Given the description of an element on the screen output the (x, y) to click on. 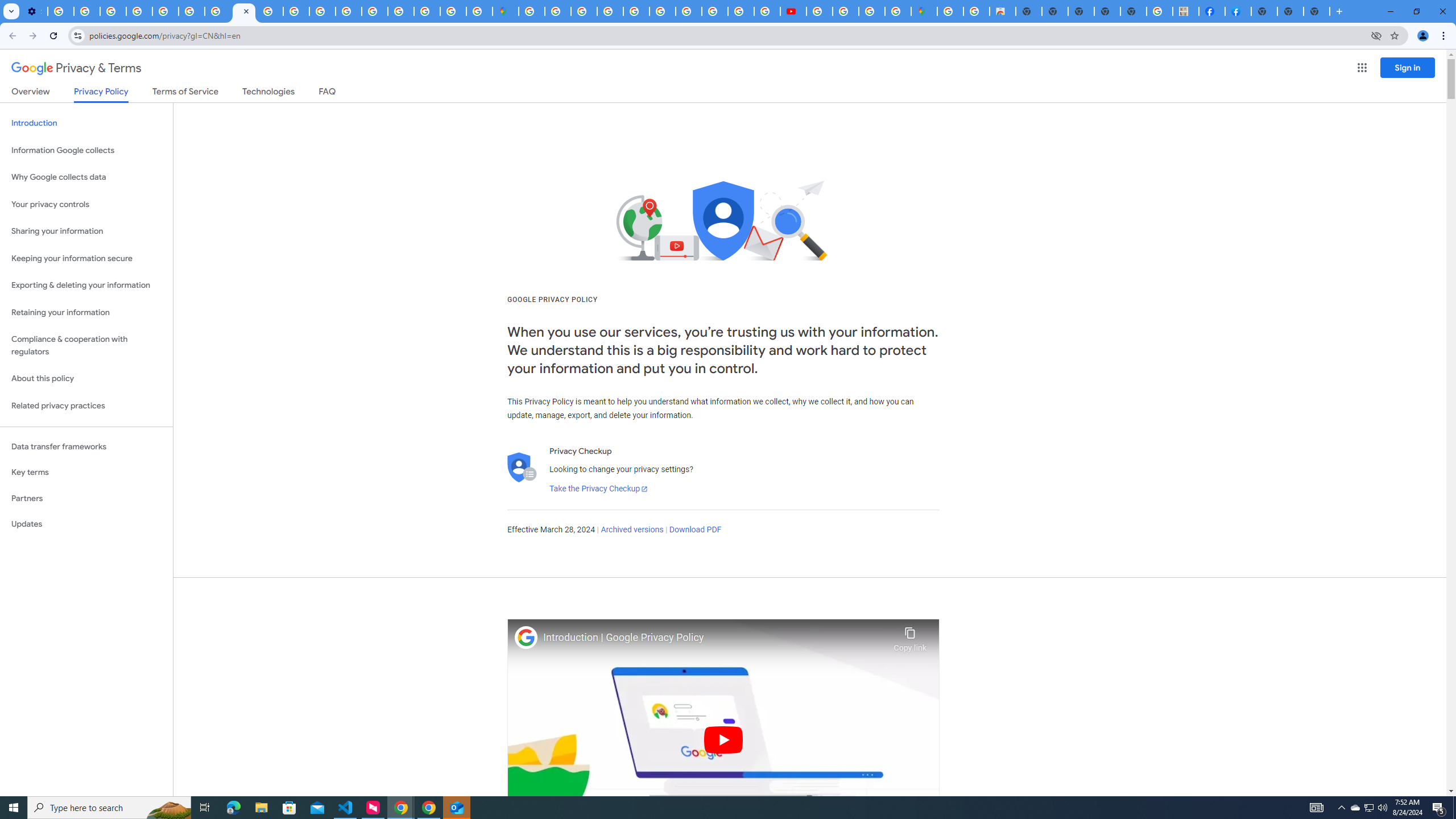
Information Google collects (86, 150)
Take the Privacy Checkup (597, 488)
Sign in - Google Accounts (400, 11)
Learn how to find your photos - Google Photos Help (86, 11)
